Given the description of an element on the screen output the (x, y) to click on. 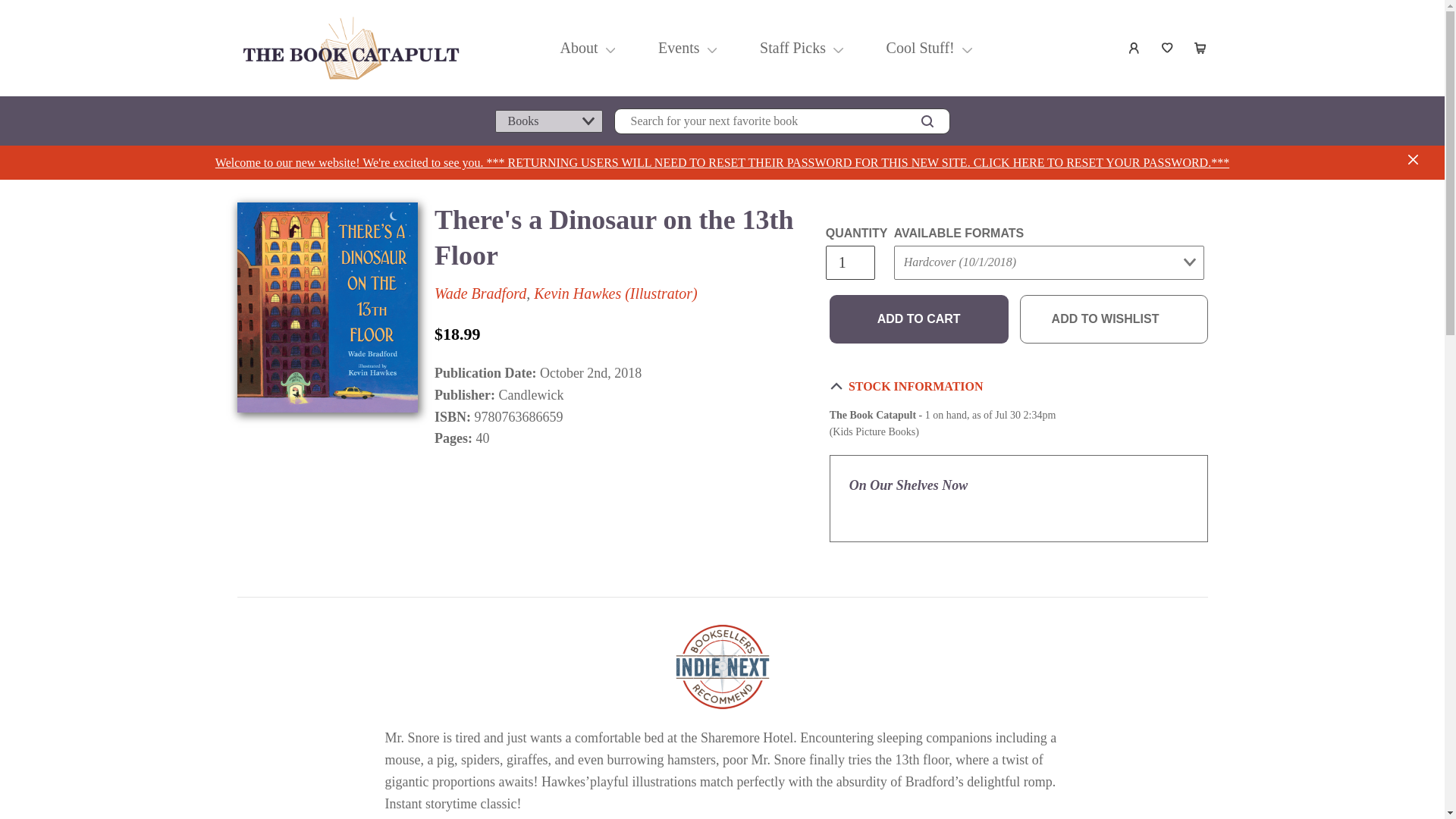
Add to cart (919, 318)
Log in (1134, 47)
Events (679, 47)
Cart (1201, 47)
1 (850, 262)
Cart (1201, 47)
Log in (1134, 47)
Cool Stuff! (919, 47)
Wishlist (1168, 47)
Staff Picks (792, 47)
SEARCH (926, 121)
Wishlists (1168, 47)
